Given the description of an element on the screen output the (x, y) to click on. 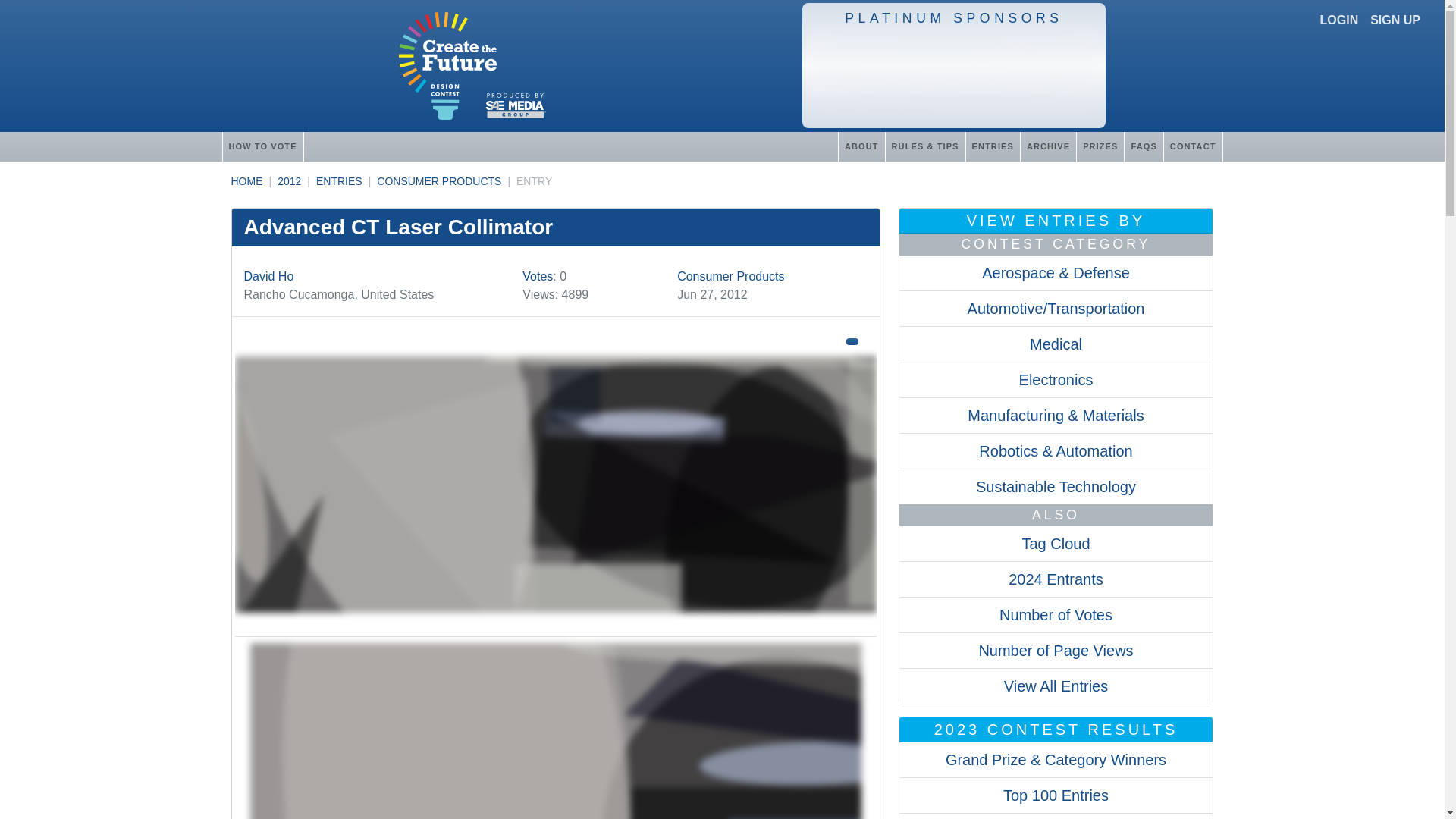
CONSUMER PRODUCTS (438, 181)
Goto slide (555, 730)
SIGN UP (1395, 20)
LOGIN (1339, 20)
Consumer Products (730, 276)
HOME (246, 181)
ENTRIES (338, 181)
David Ho (269, 276)
PRIZES (1099, 146)
ABOUT (861, 146)
ENTRIES (992, 146)
Votes (537, 276)
HOW TO VOTE (261, 146)
ARCHIVE (1047, 146)
2012 (289, 181)
